Given the description of an element on the screen output the (x, y) to click on. 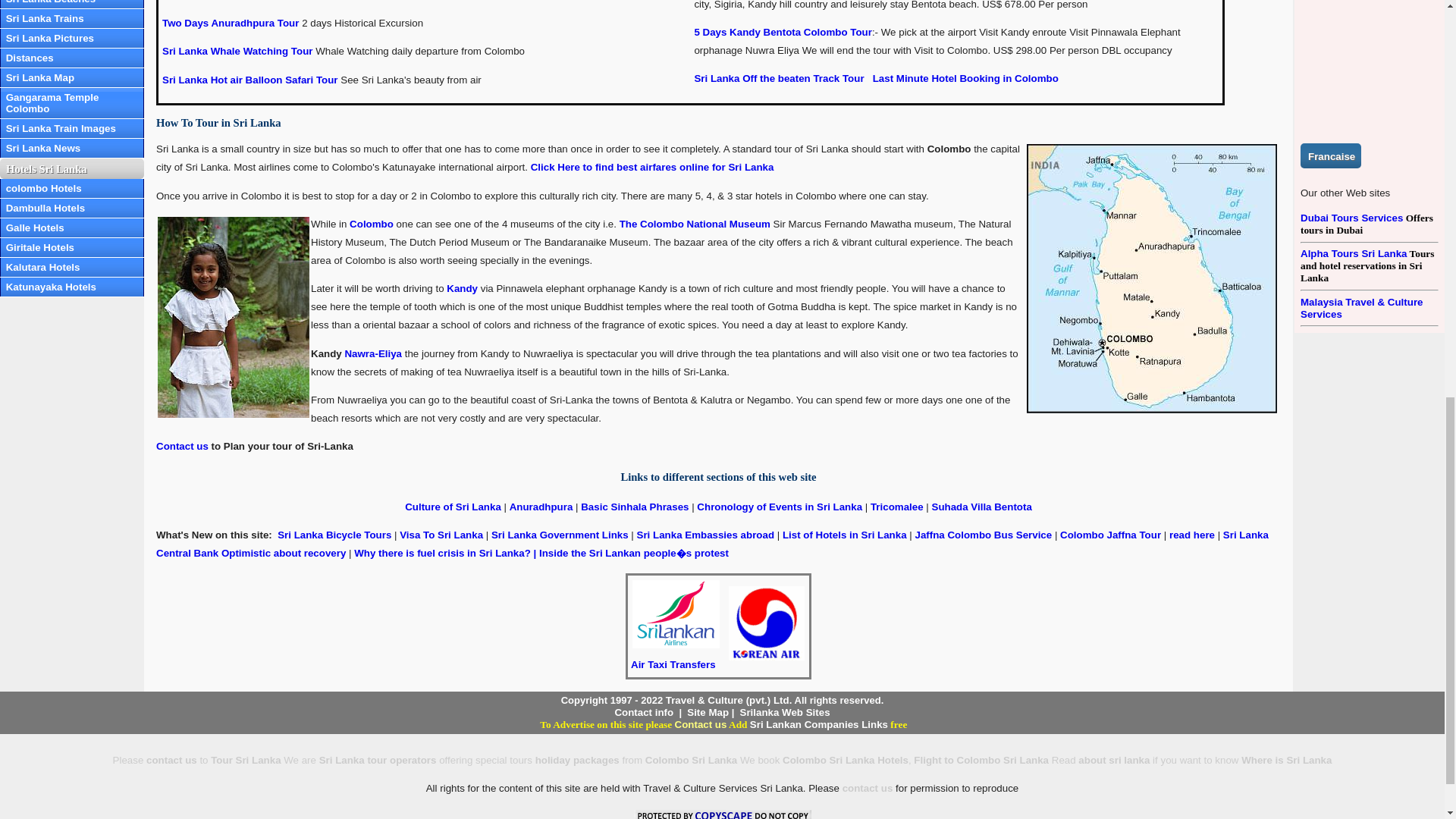
Basic Sinhala Phrases (634, 506)
5 Days Kandy Bentota Colombo Tour (783, 31)
 Last Minute Hotel Booking in Colombo (963, 78)
Culture of Sri Lanka (452, 506)
Two Days Anuradhpura Tour (229, 22)
Nawra-Eliya (372, 353)
Click Here to find best airfares online for Sri Lanka (652, 166)
Sri Lanka Off the beaten Track Tour (778, 78)
Chronology of Events in Sri Lanka (779, 506)
Contact us (181, 446)
